Given the description of an element on the screen output the (x, y) to click on. 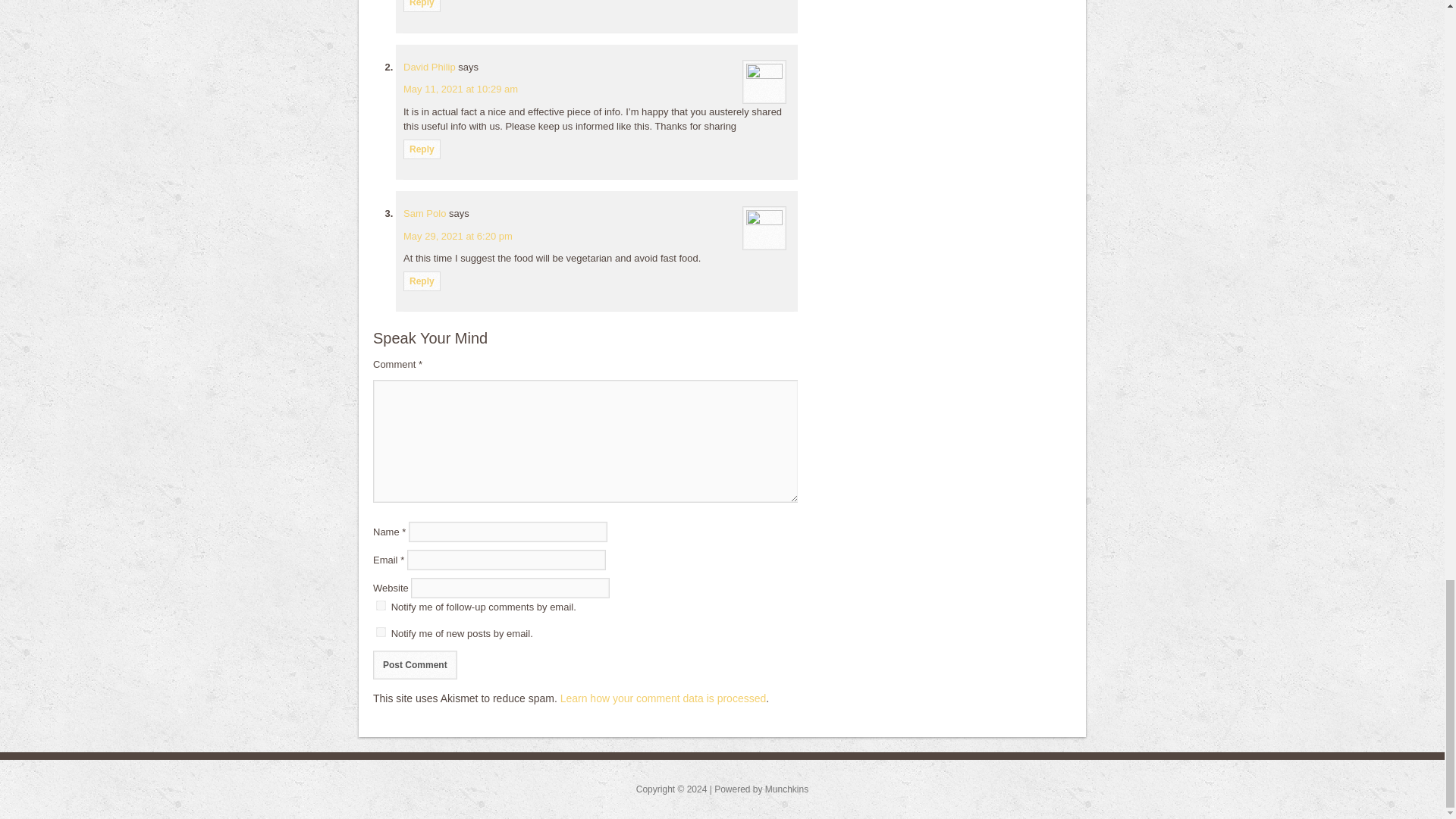
Reply (422, 148)
Sam Polo (424, 213)
Reply (422, 281)
subscribe (380, 632)
Post Comment (414, 664)
Reply (422, 6)
May 11, 2021 at 10:29 am (460, 89)
Learn how your comment data is processed (663, 698)
David Philip (429, 66)
May 29, 2021 at 6:20 pm (457, 235)
